Given the description of an element on the screen output the (x, y) to click on. 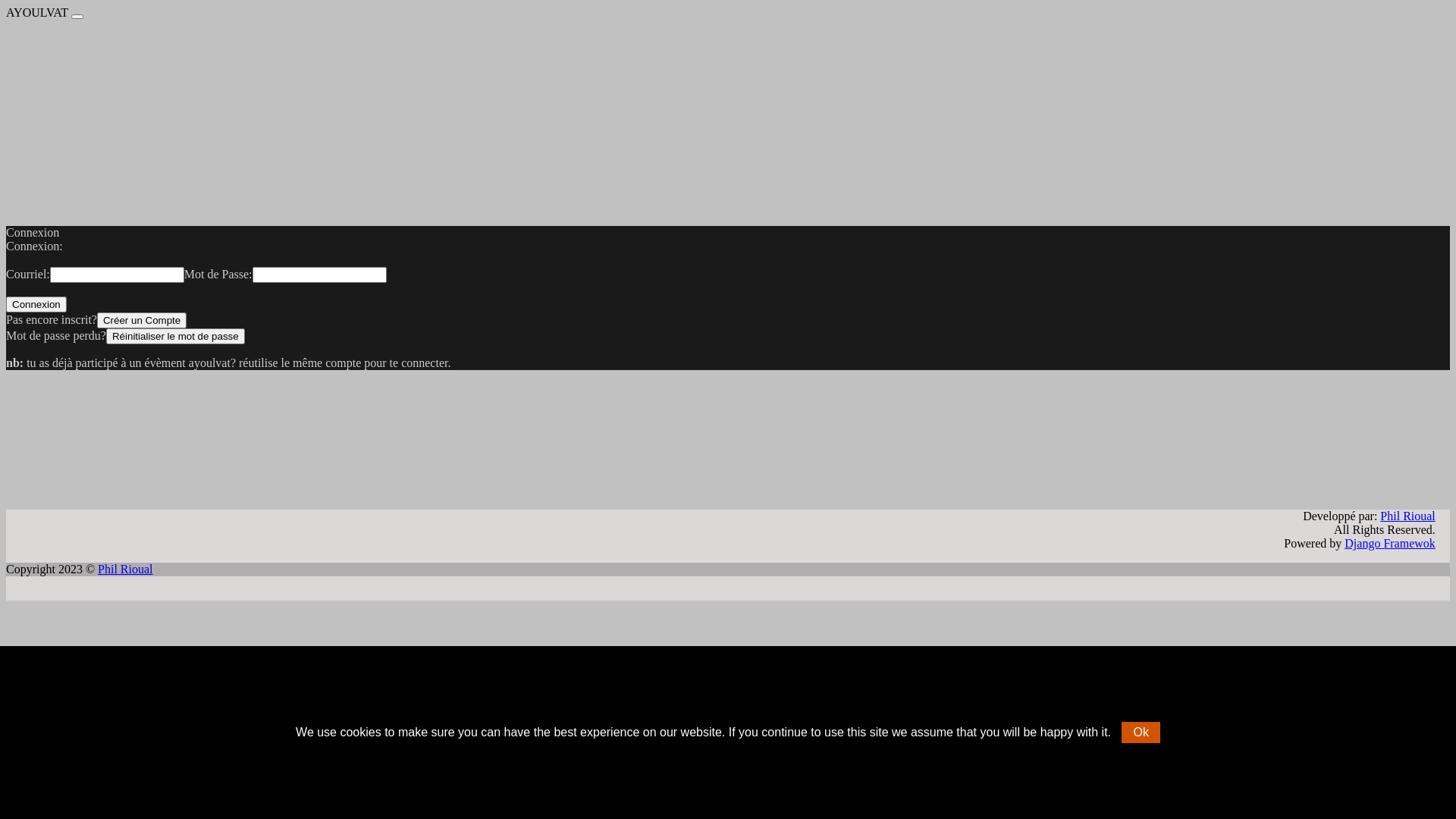
Phil Rioual Element type: text (1407, 515)
Ok Element type: text (1140, 732)
Django Framewok Element type: text (1389, 542)
Phil Rioual Element type: text (124, 568)
Connexion Element type: text (36, 304)
